Given the description of an element on the screen output the (x, y) to click on. 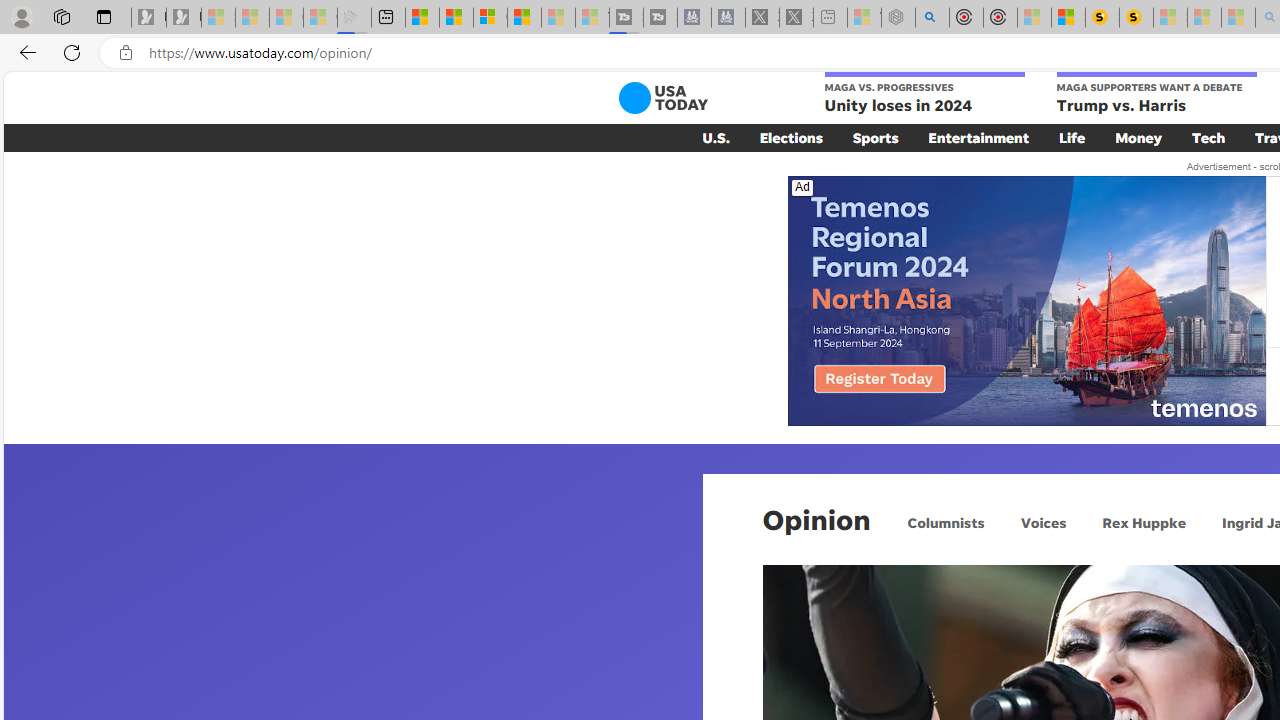
Tech (1208, 137)
New tab - Sleeping (830, 17)
Michelle Starr, Senior Journalist at ScienceAlert (1136, 17)
View site information (125, 53)
Life (1072, 137)
USA TODAY (662, 97)
Class: gnt_n_lg_svg (662, 97)
Elections (790, 137)
Newsletter Sign Up - Sleeping (183, 17)
